Given the description of an element on the screen output the (x, y) to click on. 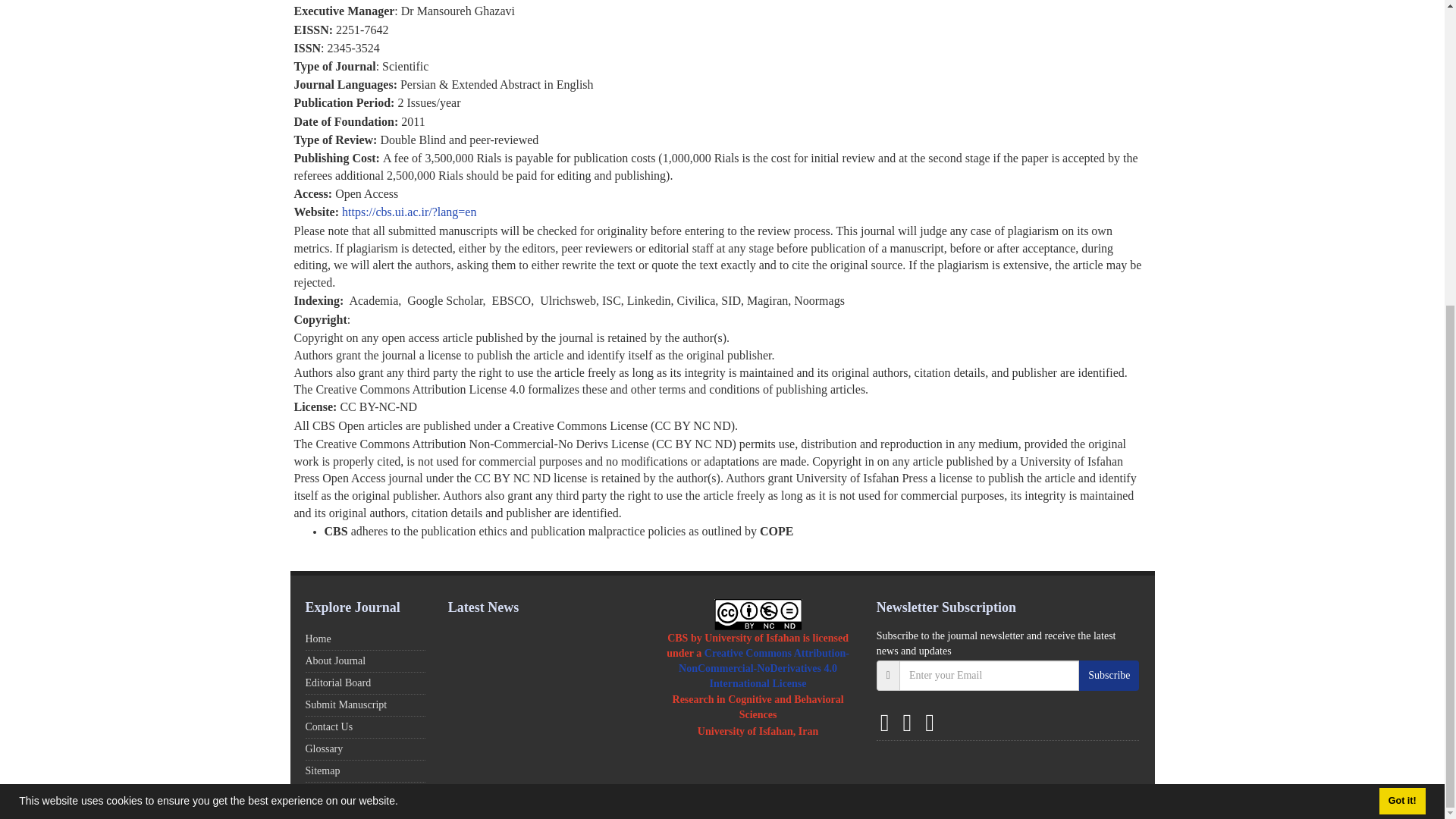
Got it! (1401, 320)
